Given the description of an element on the screen output the (x, y) to click on. 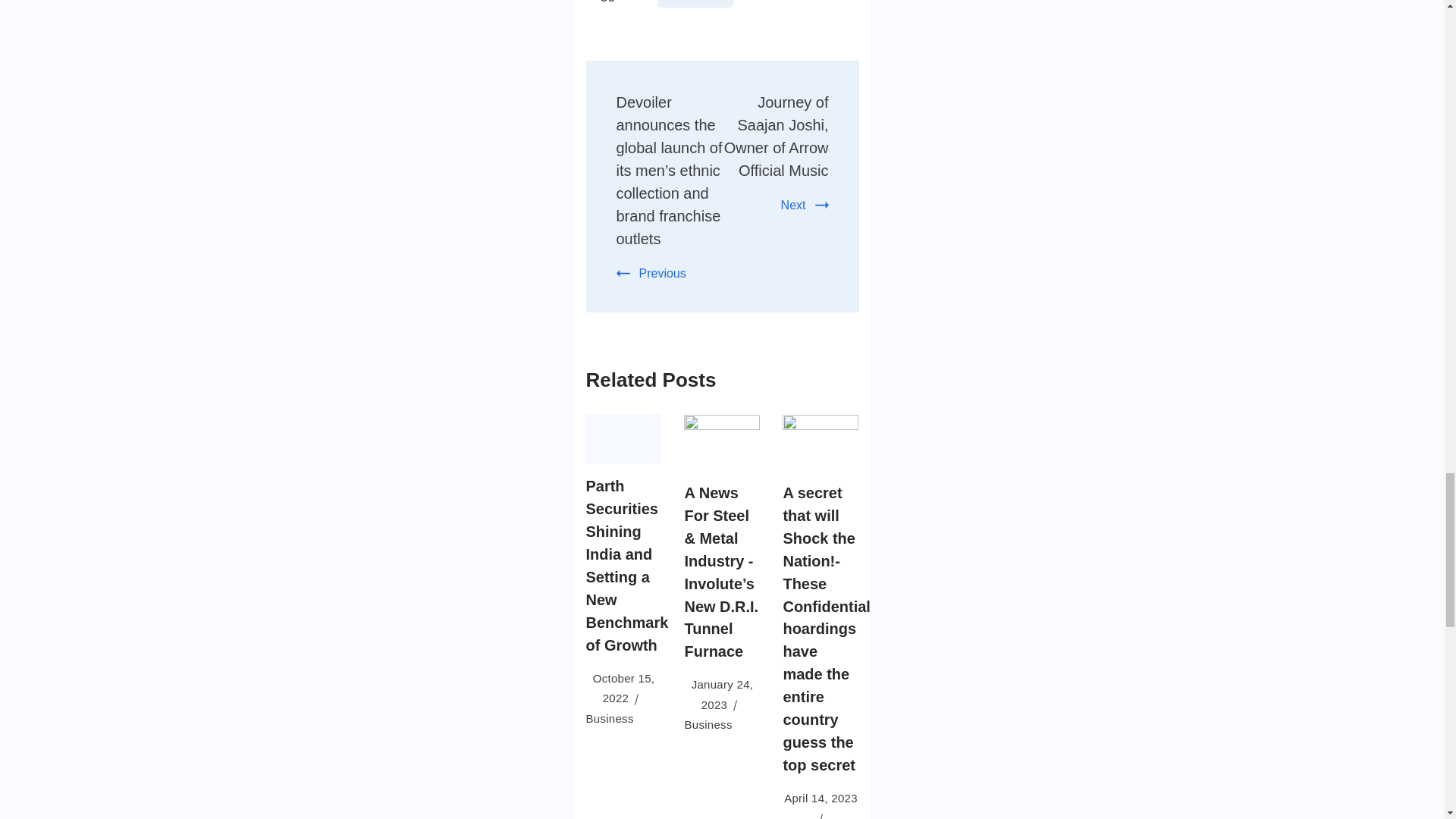
Journey of Saajan Joshi, Owner of Arrow Official Music (775, 136)
Business (609, 717)
Next (804, 205)
Business (708, 724)
business (695, 3)
Previous (650, 273)
